Given the description of an element on the screen output the (x, y) to click on. 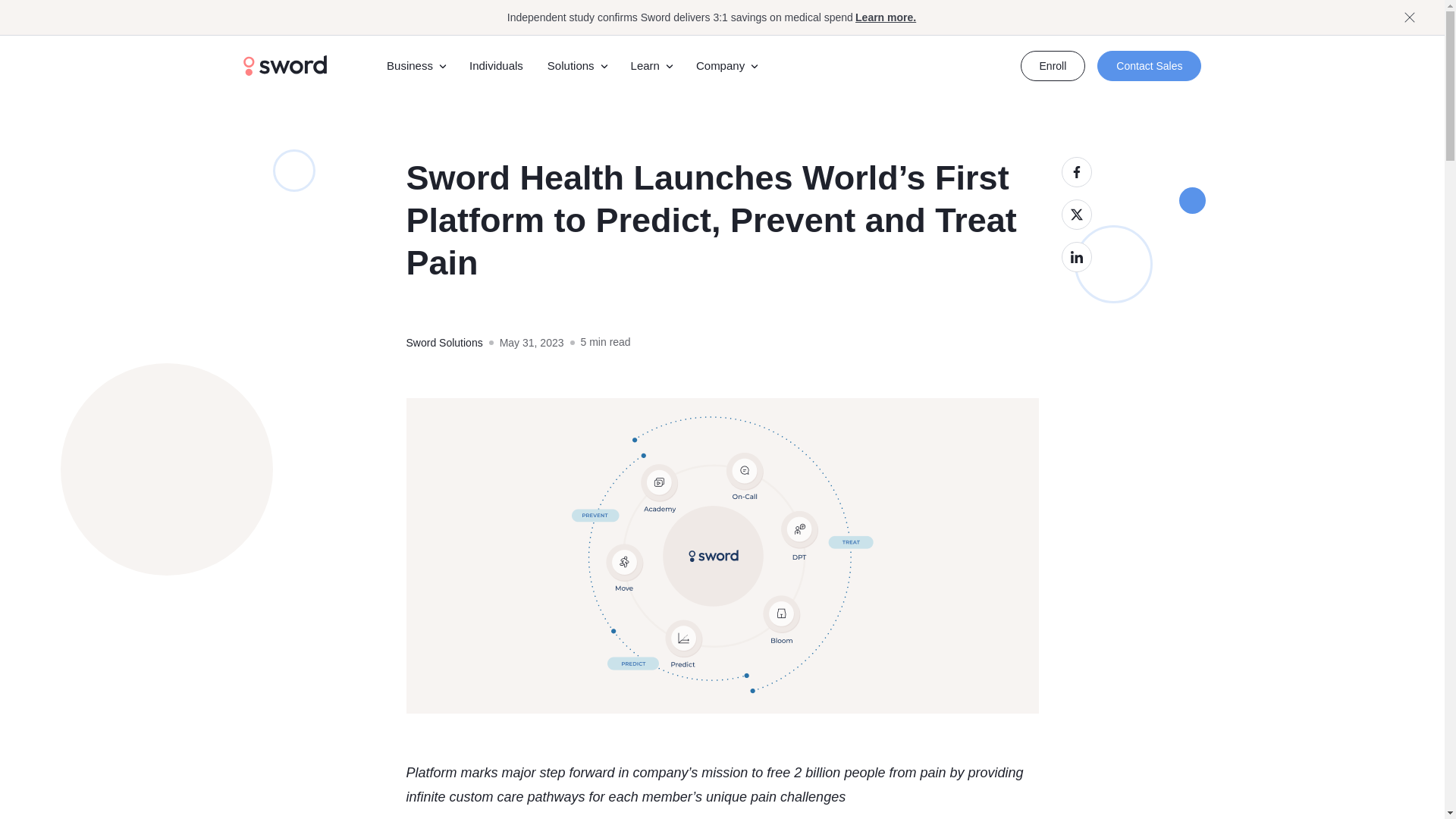
Enroll (1053, 65)
Contact Sales (1149, 65)
Individuals (495, 65)
Learn more. (884, 17)
